Given the description of an element on the screen output the (x, y) to click on. 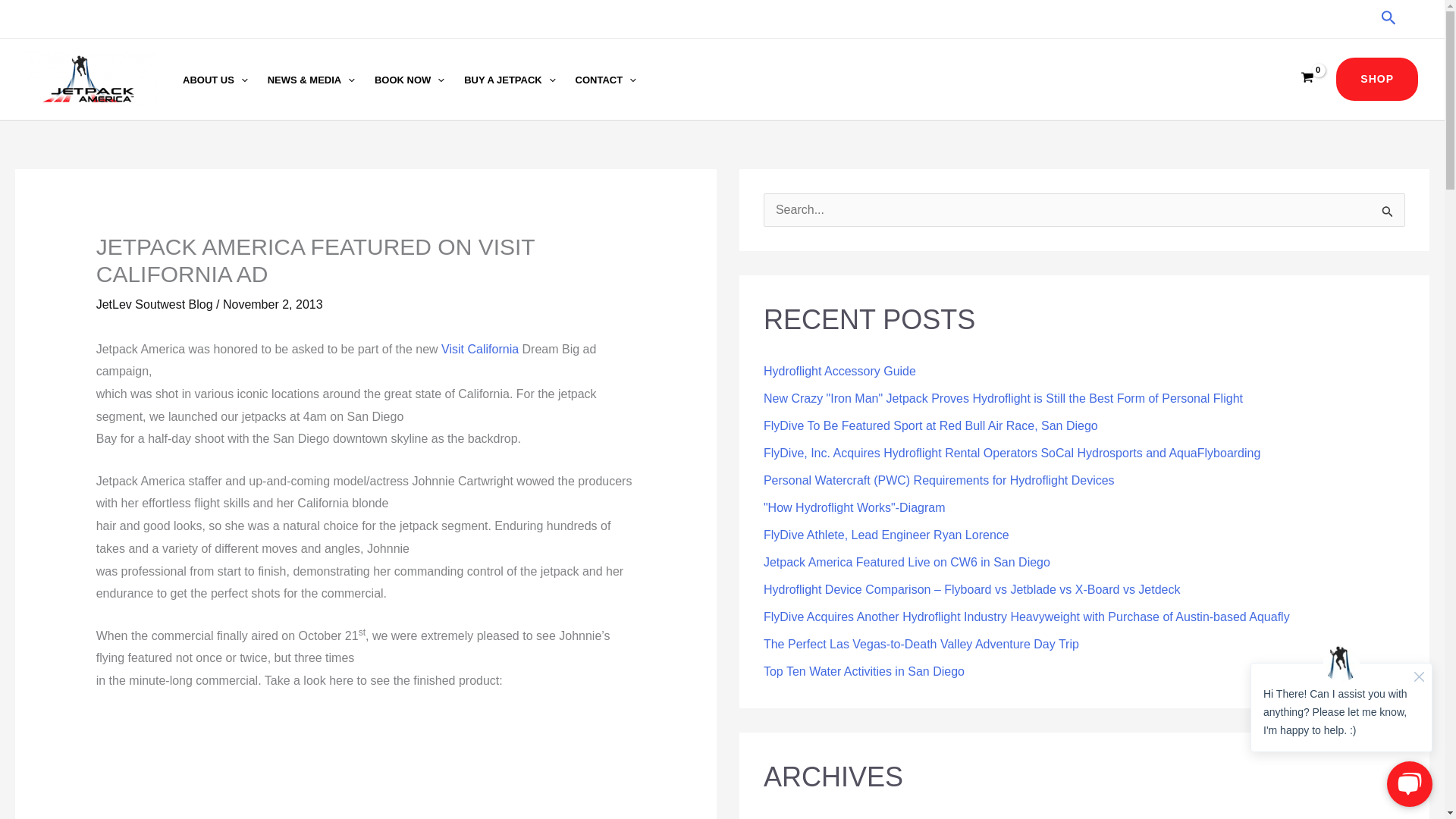
CONTACT (606, 80)
BOOK NOW (409, 80)
ABOUT US (215, 80)
BUY A JETPACK (509, 80)
SHOP (1377, 79)
